Given the description of an element on the screen output the (x, y) to click on. 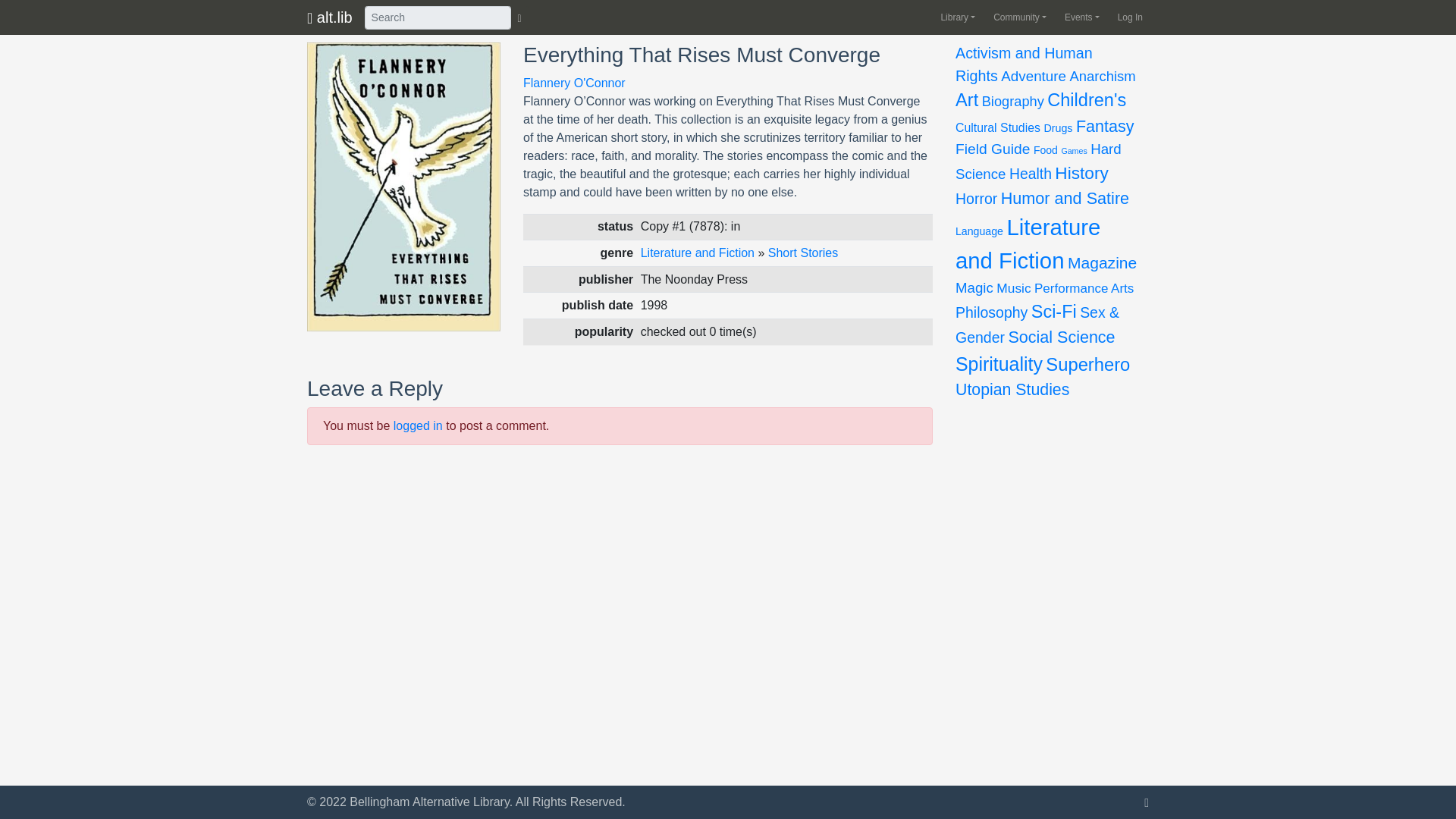
Literature and Fiction (697, 252)
logged in (417, 425)
Field Guide (992, 148)
Adventure (1033, 75)
Food (1045, 150)
Art (966, 99)
Fantasy (1104, 126)
alt.lib (329, 17)
Biography (1012, 100)
Library (954, 17)
Anarchism (1101, 75)
Short Stories (803, 252)
alt.lib (329, 17)
Drugs (1057, 128)
Community (1016, 17)
